Given the description of an element on the screen output the (x, y) to click on. 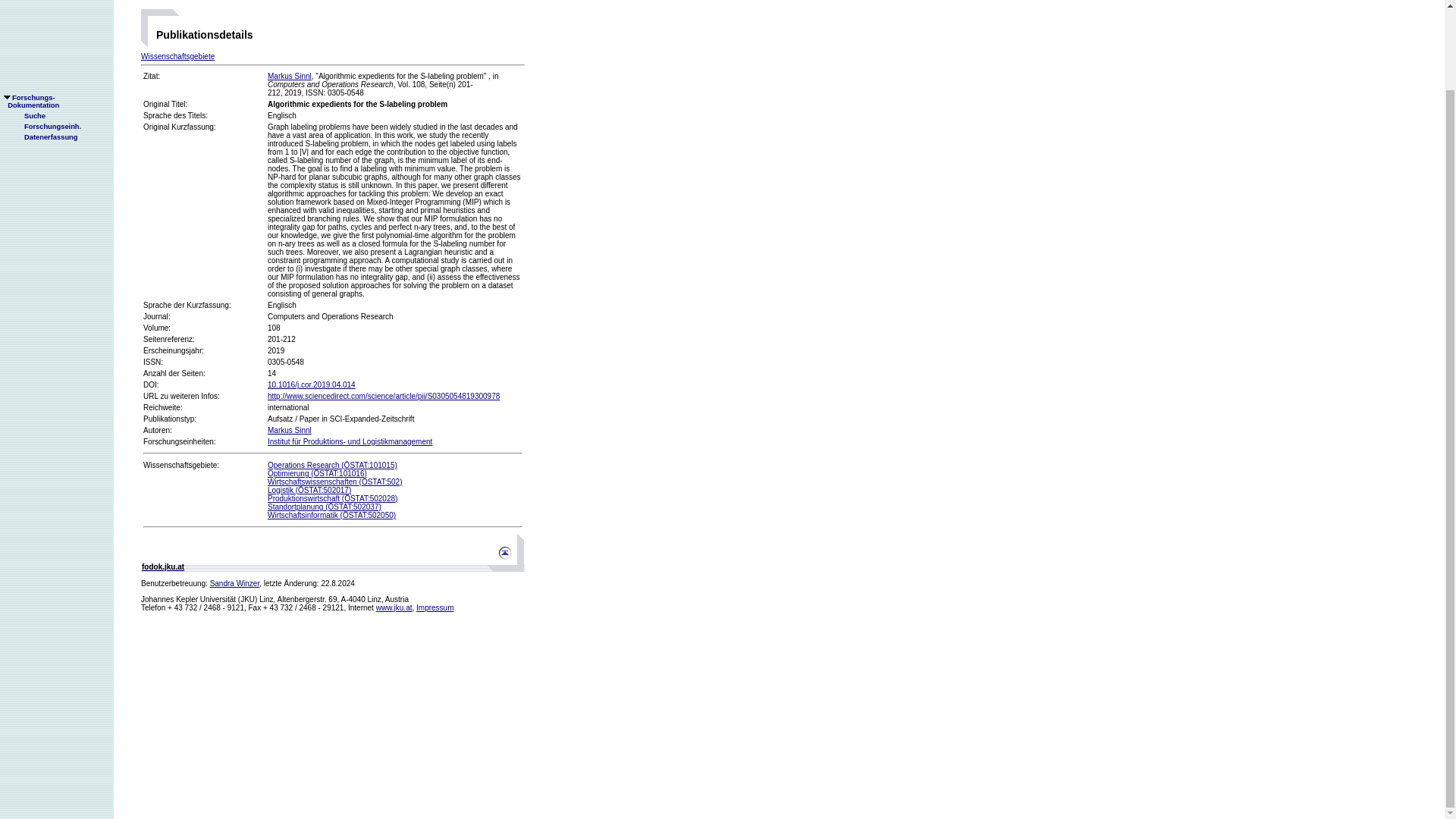
Markus Sinnl (289, 76)
Impressum (434, 607)
Suche (28, 25)
Forschungseinh. (46, 36)
www.jku.at (393, 607)
Sandra Winzer (234, 583)
Datenerfassung (44, 46)
Wissenschaftsgebiete (177, 56)
Markus Sinnl (289, 429)
